Given the description of an element on the screen output the (x, y) to click on. 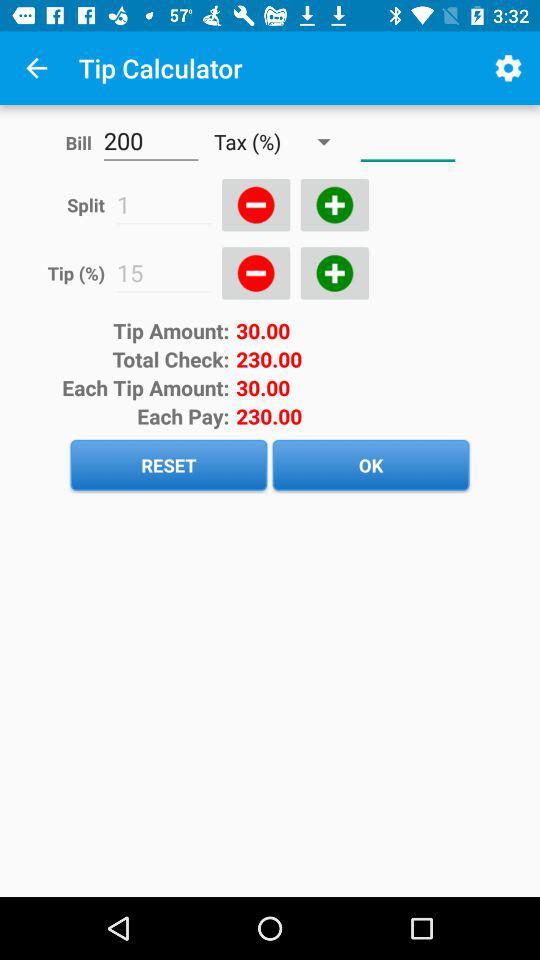
zoom (255, 273)
